Given the description of an element on the screen output the (x, y) to click on. 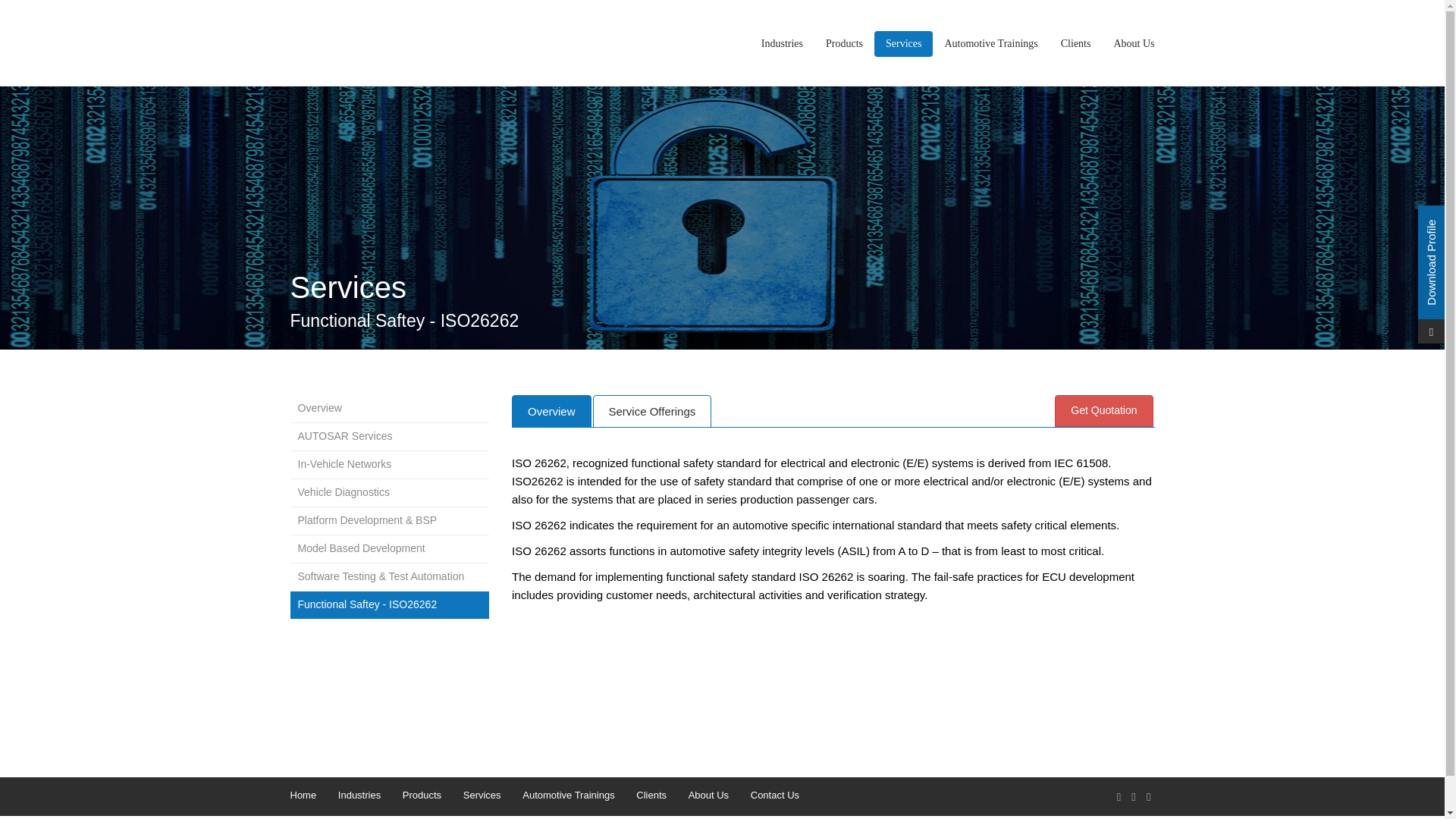
Get Quotation (1103, 410)
Home (302, 794)
Automotive Trainings (990, 43)
Industries (781, 43)
Service Offerings (651, 410)
In-Vehicle Networks (389, 464)
Clients (1075, 43)
Products (422, 794)
Model Based Development (389, 548)
Download Profile (1430, 334)
Vehicle Diagnostics (389, 492)
Overview (389, 408)
About Us (1134, 43)
Overview (551, 410)
Functional Saftey - ISO26262 (389, 604)
